Given the description of an element on the screen output the (x, y) to click on. 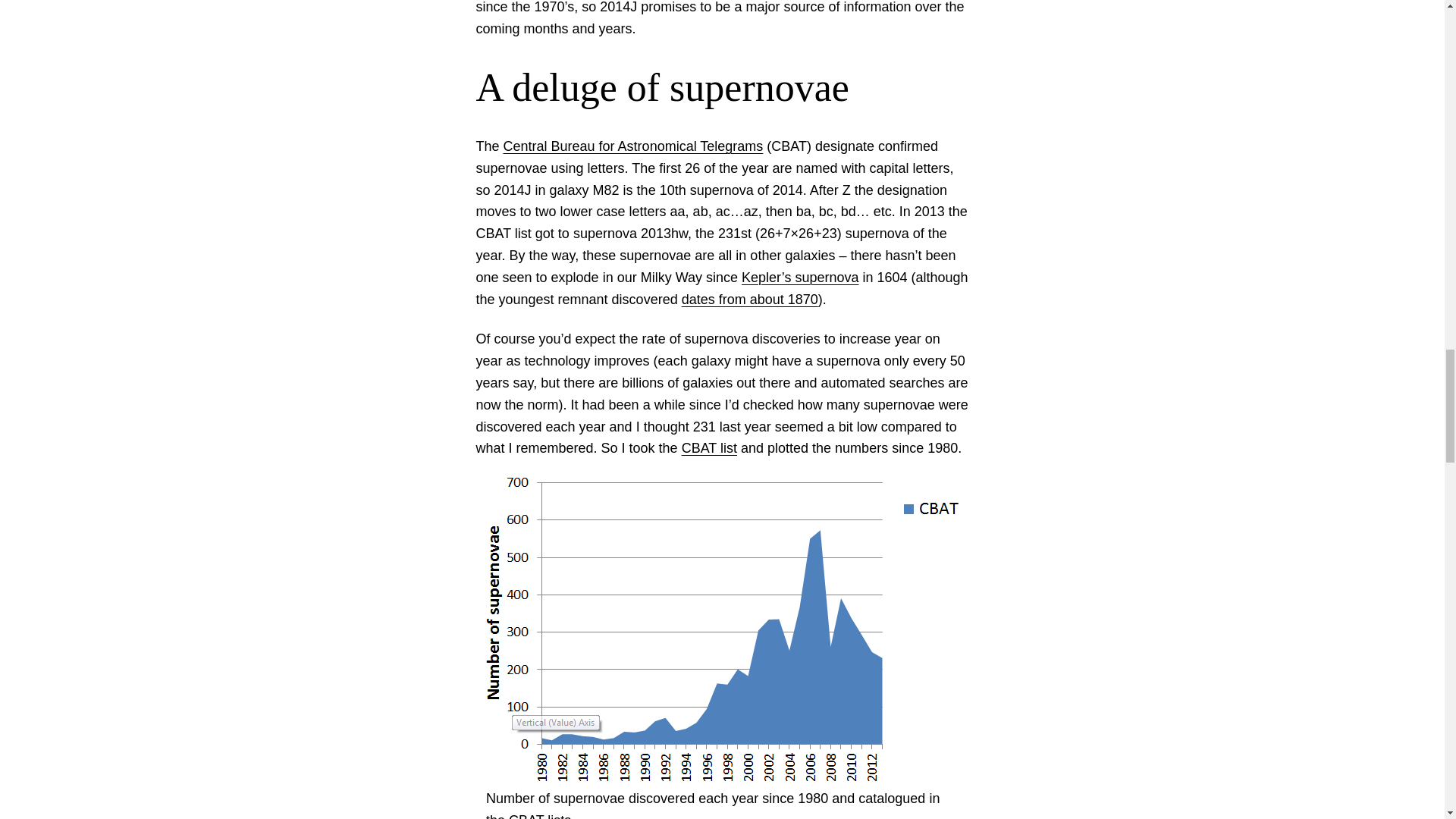
Central Bureau for Astronomical Telegrams (632, 145)
dates from about 1870 (749, 299)
CBAT list (708, 447)
